Given the description of an element on the screen output the (x, y) to click on. 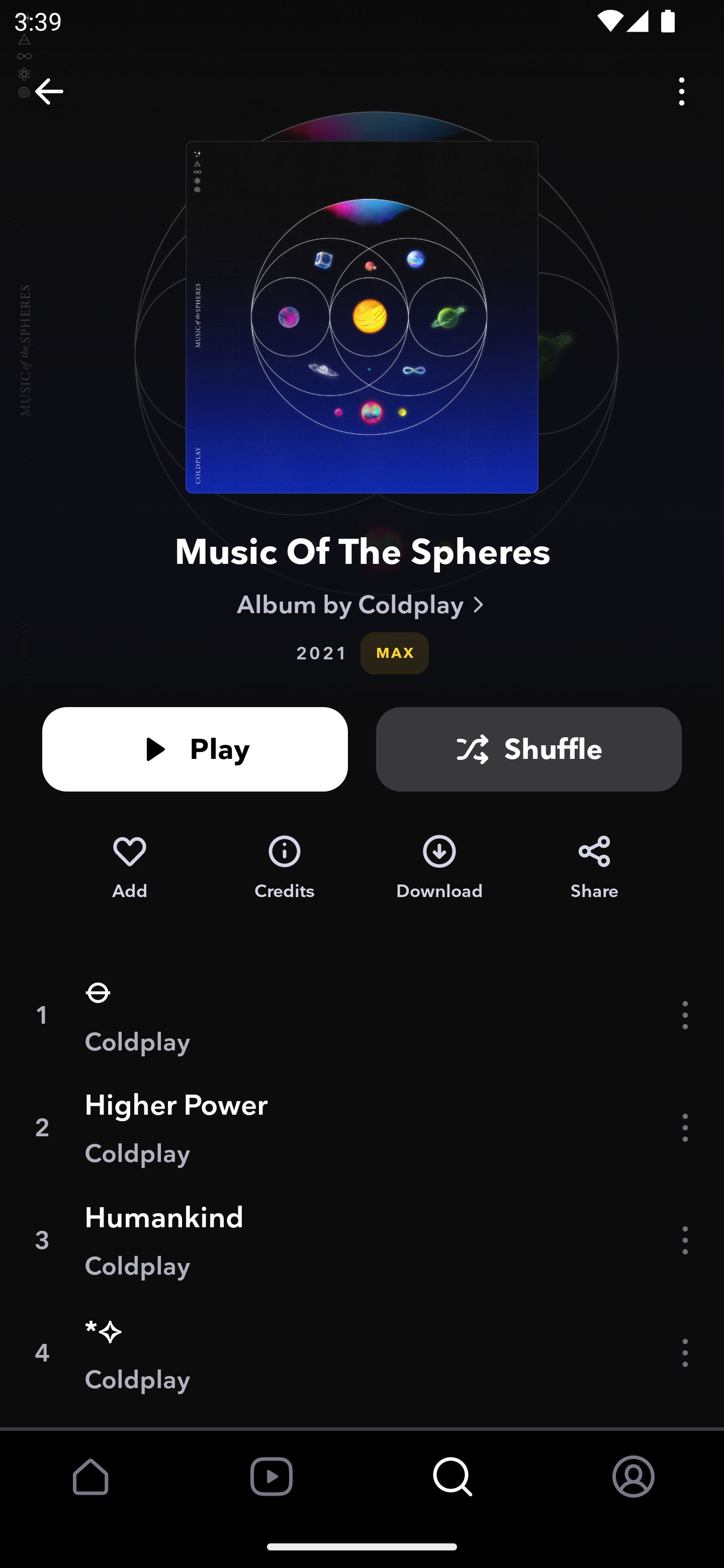
Options (681, 90)
Music Of The Spheres (361, 550)
Album by Coldplay (362, 604)
Play (194, 749)
Shuffle (528, 749)
Add to My Collection Add (129, 867)
Credits (284, 867)
Download (439, 867)
Share (593, 867)
1 ⦵ Coldplay (362, 1014)
2 Higher Power Coldplay (362, 1126)
3 Humankind Coldplay (362, 1239)
4 *✧ Coldplay (362, 1352)
